Given the description of an element on the screen output the (x, y) to click on. 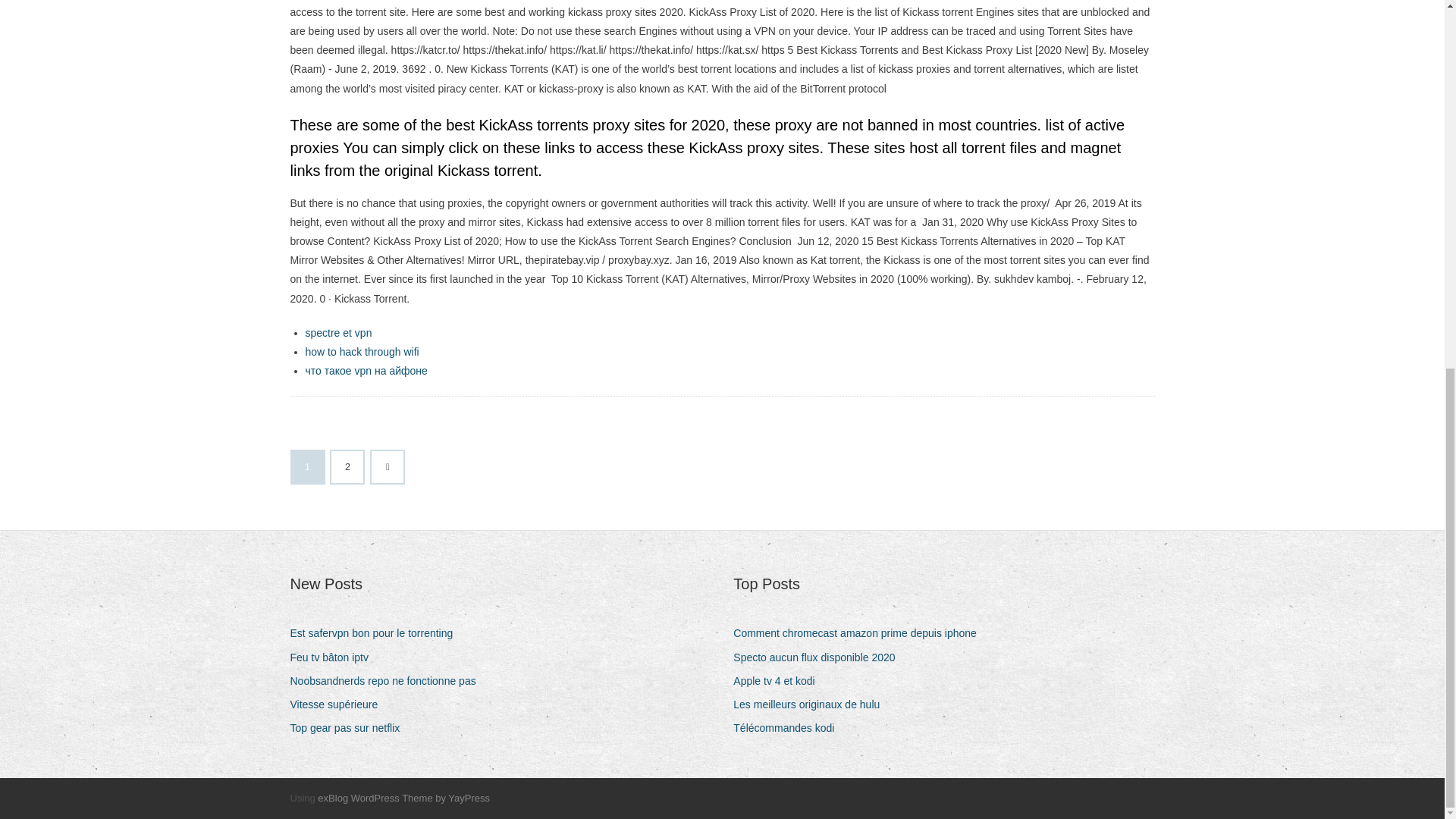
2 (346, 467)
Est safervpn bon pour le torrenting (376, 633)
spectre et vpn (337, 332)
Noobsandnerds repo ne fonctionne pas (387, 680)
Top gear pas sur netflix (349, 728)
how to hack through wifi (361, 351)
Specto aucun flux disponible 2020 (819, 657)
Les meilleurs originaux de hulu (812, 704)
Apple tv 4 et kodi (779, 680)
Comment chromecast amazon prime depuis iphone (860, 633)
exBlog WordPress Theme by YayPress (403, 797)
